Given the description of an element on the screen output the (x, y) to click on. 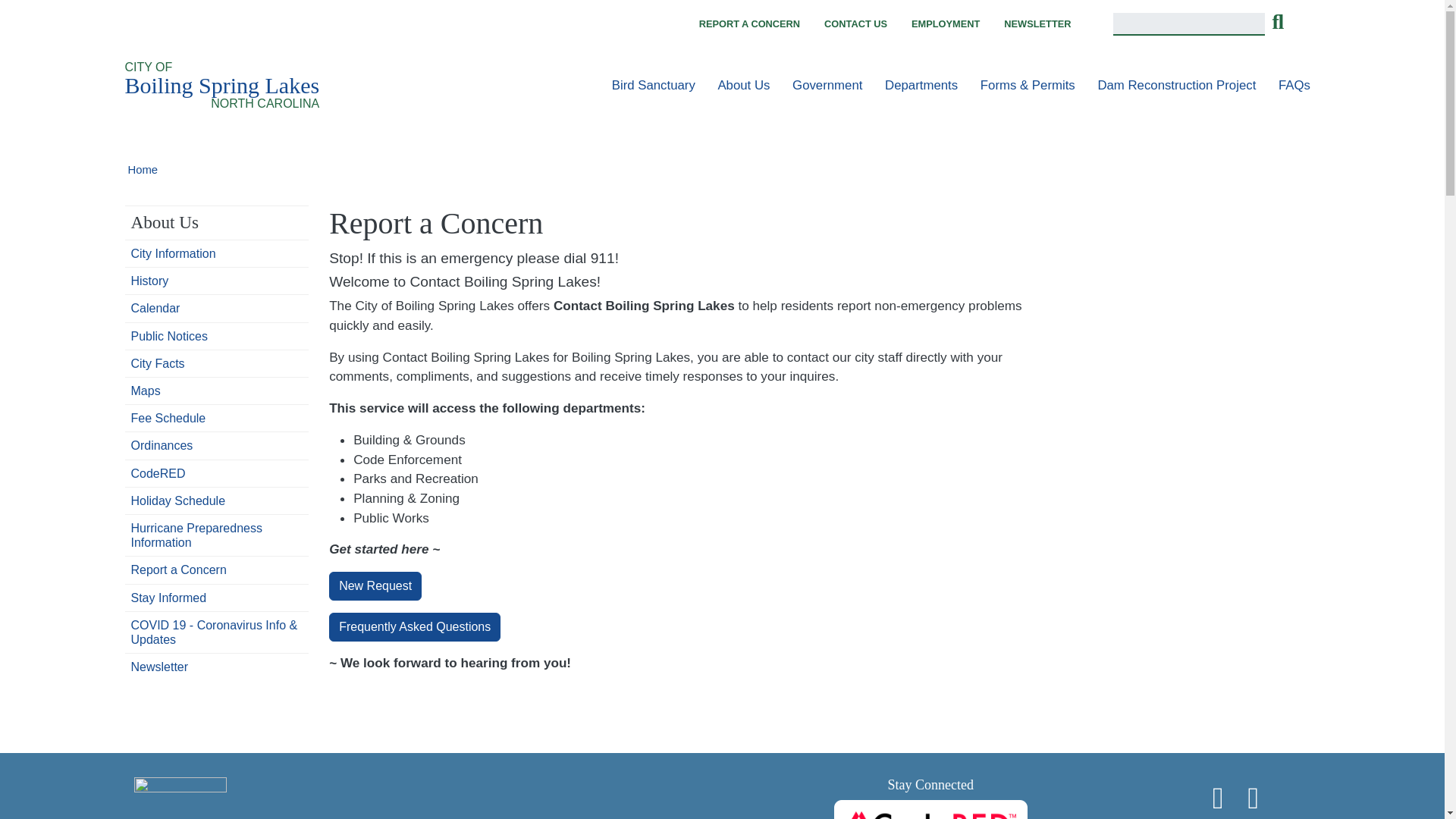
Home (220, 85)
Bird Sanctuary (653, 85)
Government (827, 85)
About Us (742, 85)
EMPLOYMENT (945, 23)
Search (1277, 23)
Search (1277, 23)
NEWSLETTER (1037, 23)
Permits Required for Tree Removal (653, 85)
Enter the terms you wish to search for. (1189, 24)
